Given the description of an element on the screen output the (x, y) to click on. 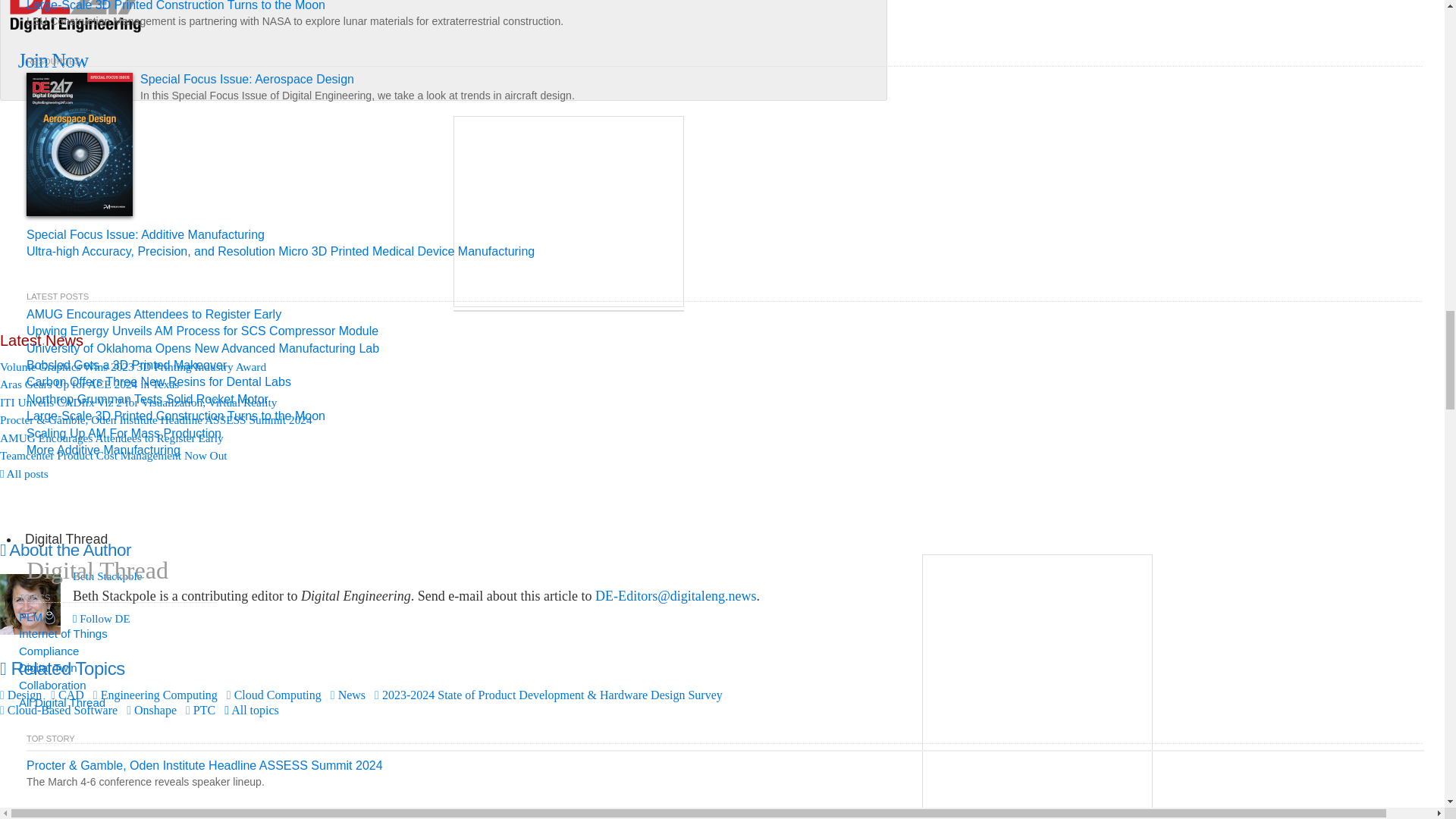
Cloud-Based Software (58, 709)
Onshape (151, 709)
PTC (200, 709)
